Given the description of an element on the screen output the (x, y) to click on. 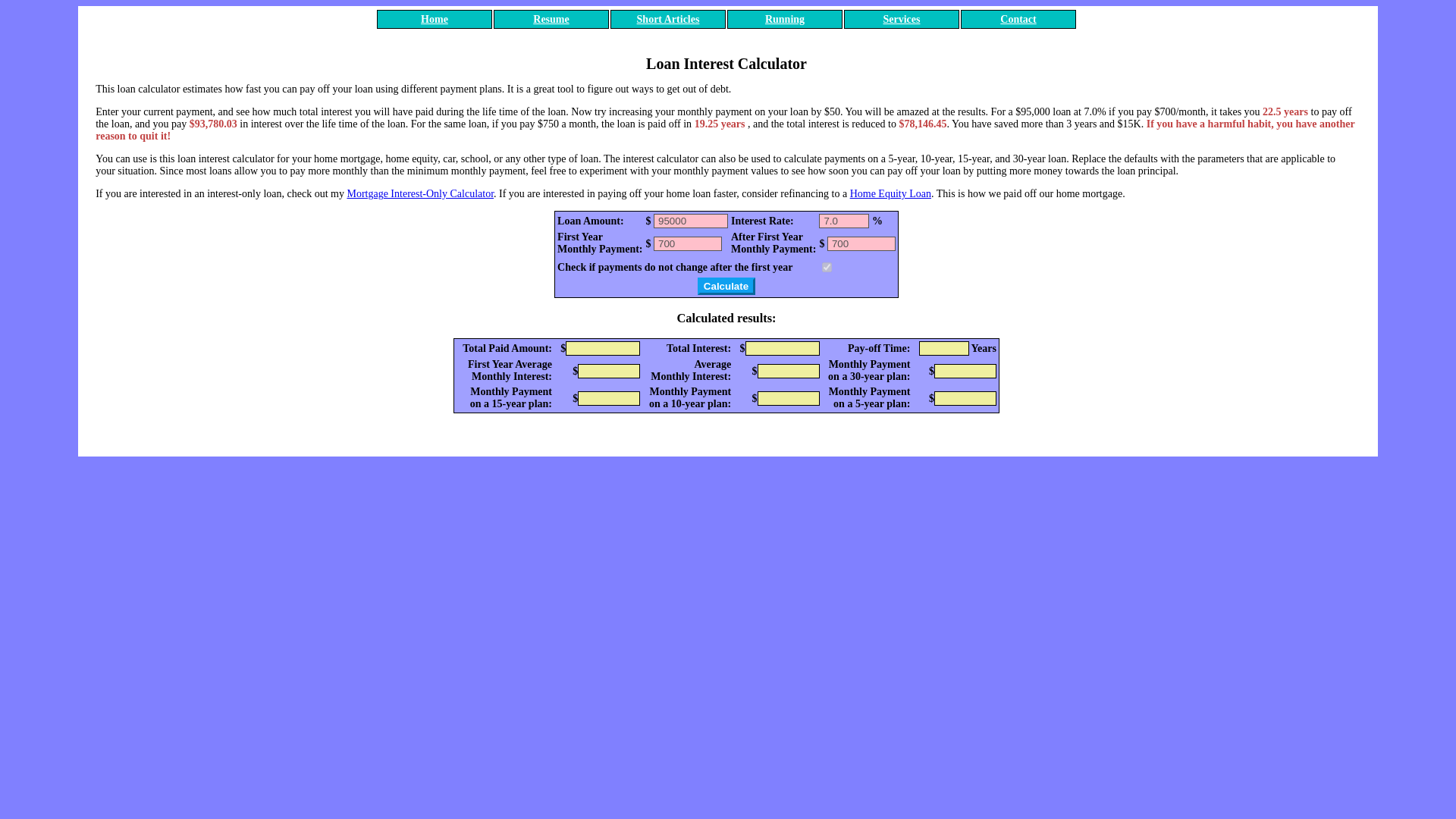
Short Articles (668, 19)
Resume (550, 19)
on (826, 266)
Home (434, 19)
Contact (1017, 19)
Services (901, 19)
700 (687, 243)
95000 (690, 220)
Mortgage Interest-Only Calculator (419, 193)
Home Equity Loan (890, 193)
